Given the description of an element on the screen output the (x, y) to click on. 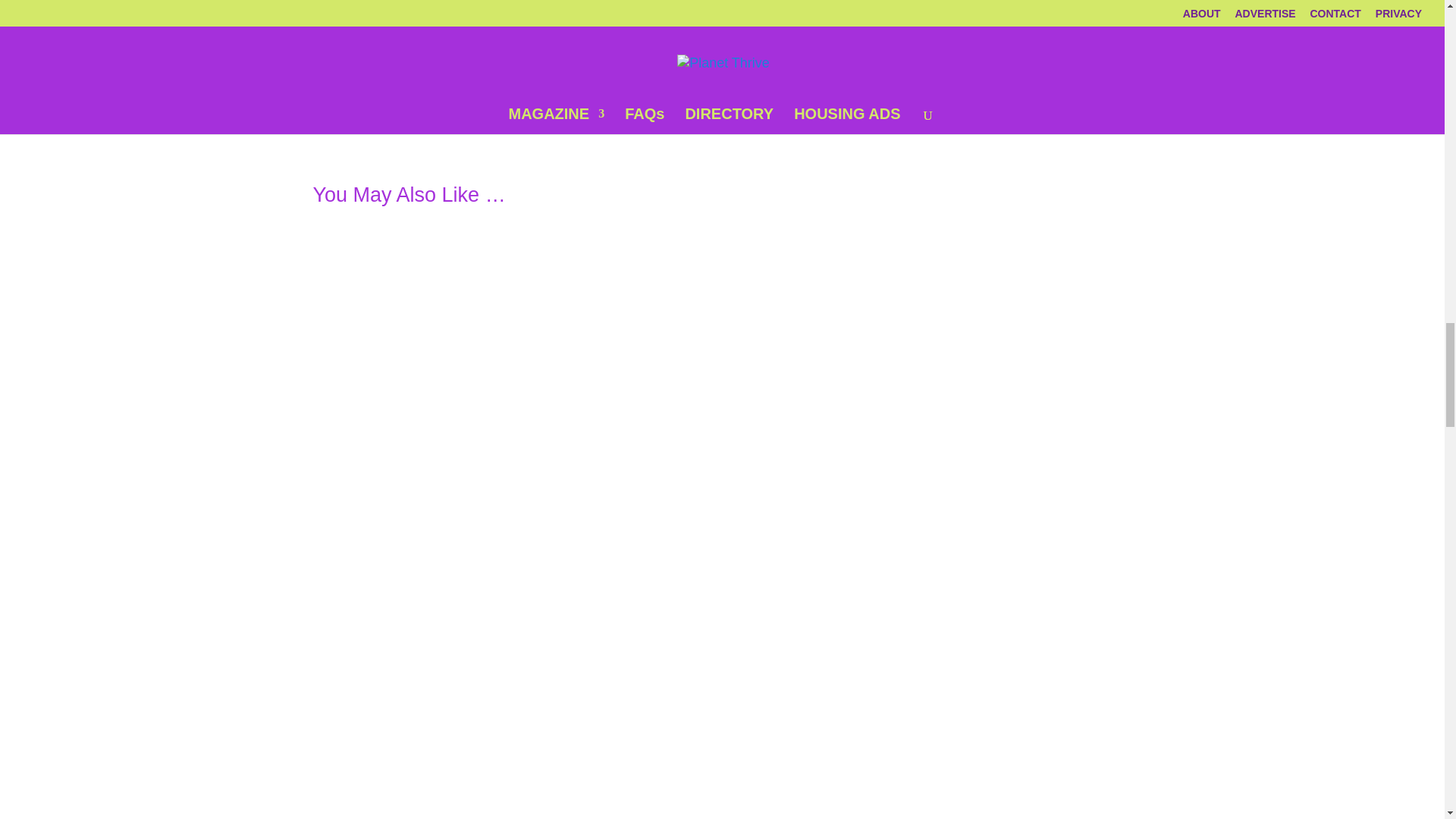
stephenharrodbuhner.com (398, 63)
